Given the description of an element on the screen output the (x, y) to click on. 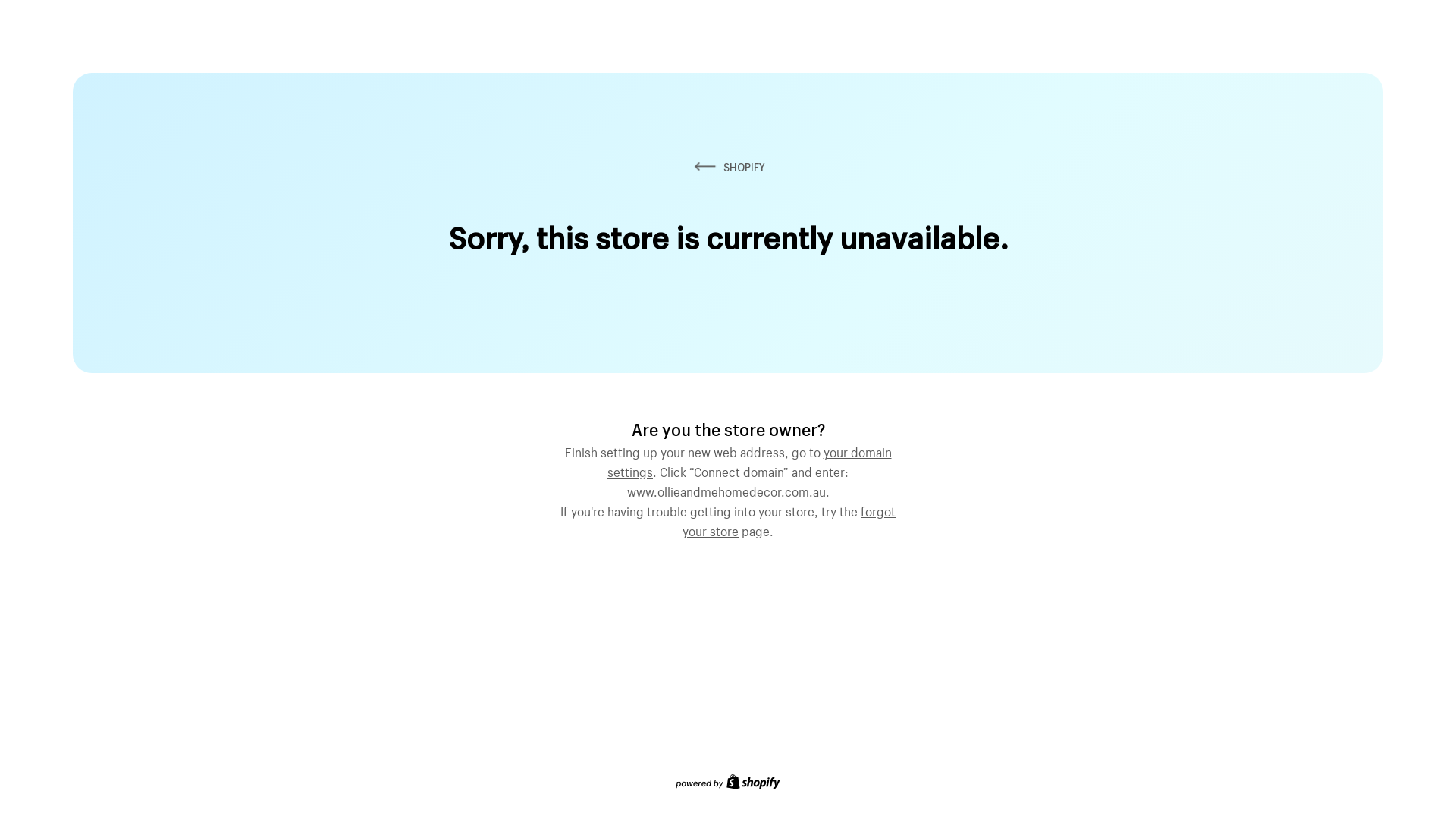
your domain settings Element type: text (749, 460)
SHOPIFY Element type: text (727, 167)
forgot your store Element type: text (788, 519)
